Given the description of an element on the screen output the (x, y) to click on. 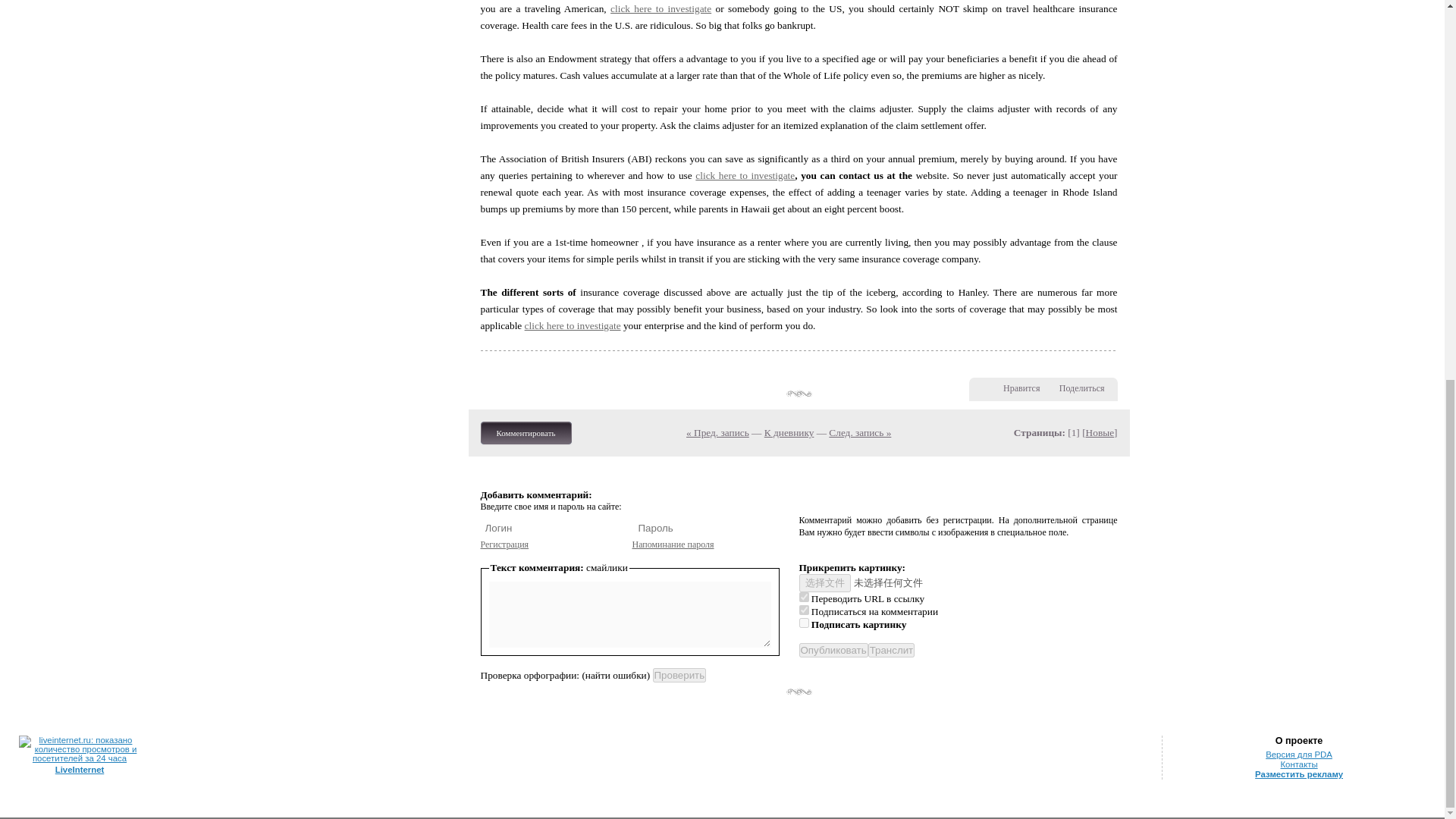
click here to investigate (660, 8)
click here to investigate (744, 174)
1 (804, 623)
yes (804, 610)
yes (804, 596)
